Given the description of an element on the screen output the (x, y) to click on. 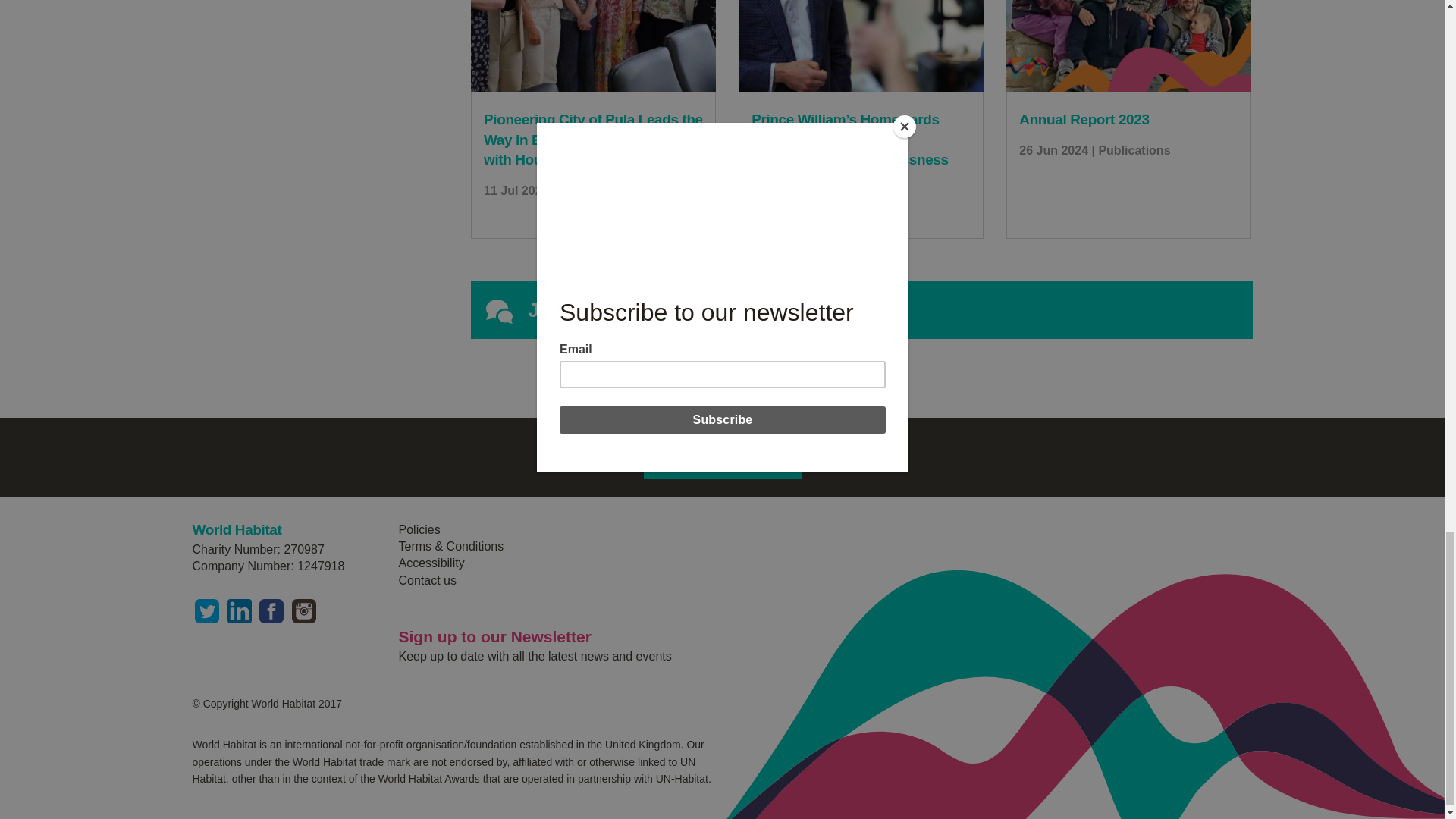
Follow us on Instagram (303, 610)
Follow us on Twitter (207, 610)
Like us on Facebook (271, 610)
Follow us on LinkedIn (239, 610)
